Given the description of an element on the screen output the (x, y) to click on. 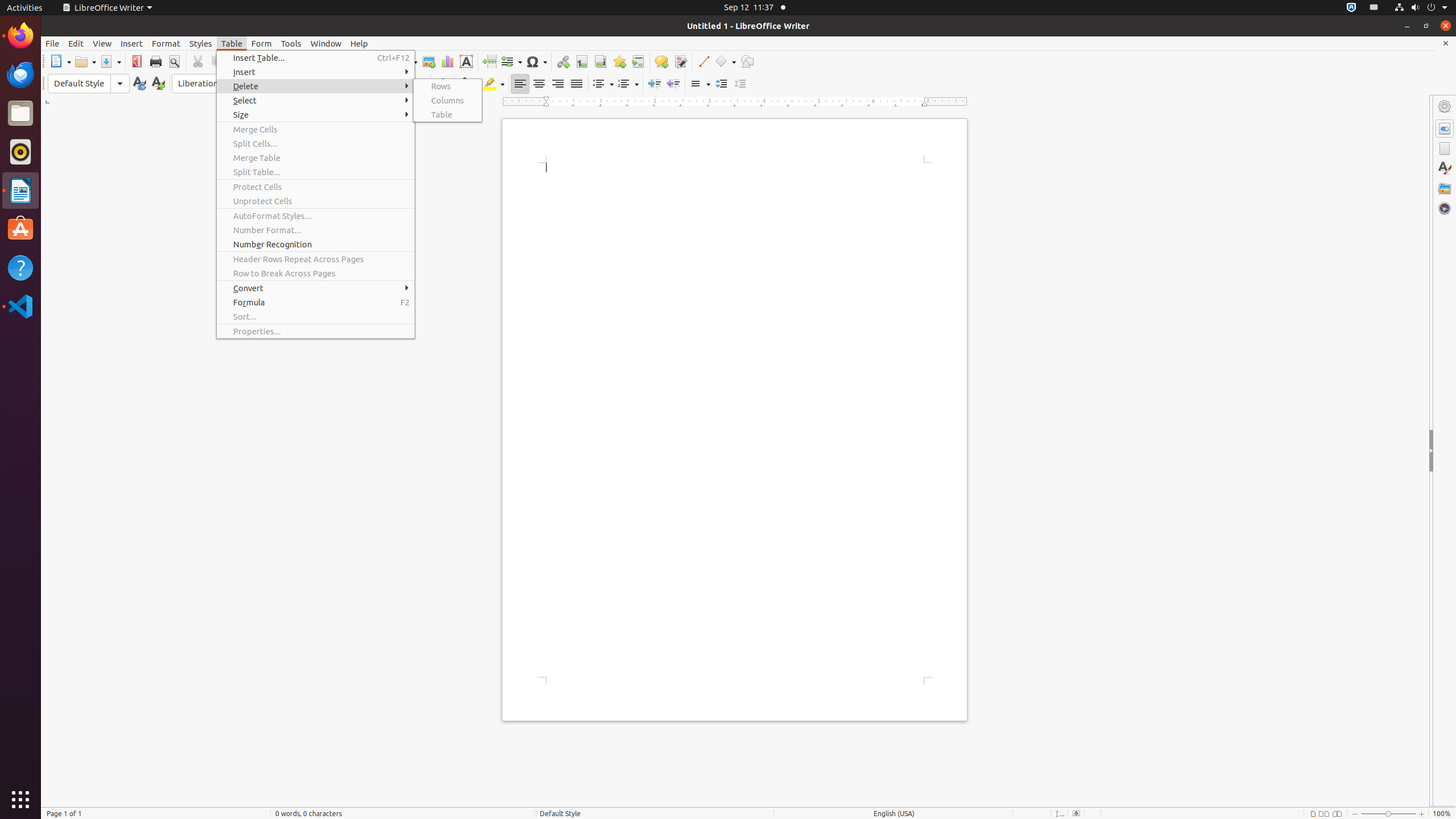
Columns Element type: menu-item (447, 100)
New Element type: push-button (157, 83)
Numbering Element type: push-button (627, 83)
Text Box Element type: push-button (465, 61)
Thunderbird Mail Element type: push-button (20, 74)
